Given the description of an element on the screen output the (x, y) to click on. 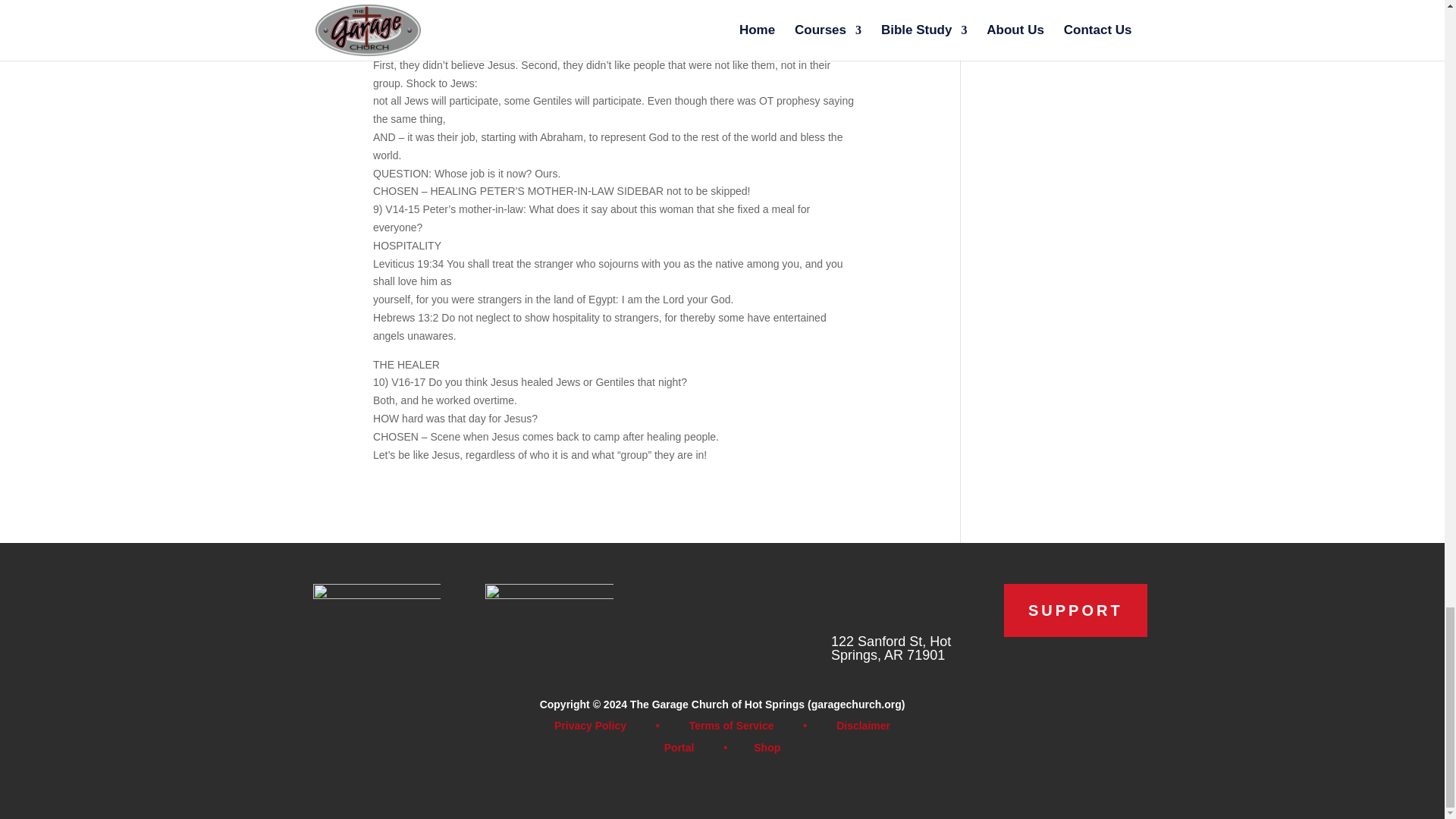
122 Sanford St, Hot Springs, AR 71901 (890, 647)
Portal (678, 747)
SUPPORT (1075, 610)
Disclaimer (862, 725)
Shop (767, 747)
1 (376, 615)
Terms of Service (731, 725)
2 (548, 615)
Privacy Policy (590, 725)
